Given the description of an element on the screen output the (x, y) to click on. 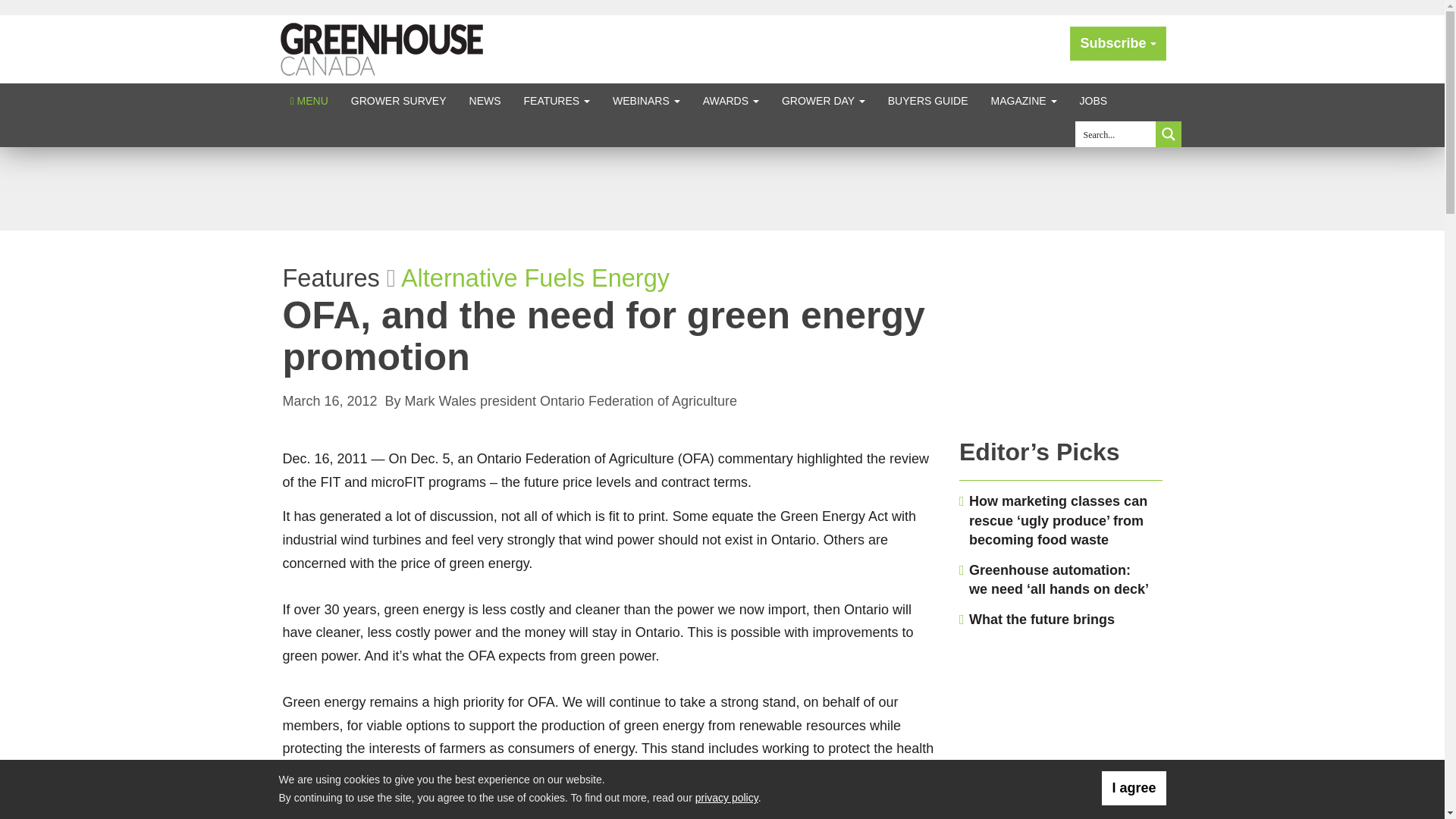
GROWER SURVEY (398, 100)
WEBINARS (646, 100)
AWARDS (730, 100)
Click to show site navigation (309, 100)
BUYERS GUIDE (927, 100)
Subscribe (1118, 43)
GROWER DAY (823, 100)
Greenhouse Canada (381, 48)
3rd party ad content (1060, 329)
3rd party ad content (721, 188)
JOBS (1093, 100)
3rd party ad content (1060, 730)
MAGAZINE (1023, 100)
NEWS (485, 100)
FEATURES (557, 100)
